Given the description of an element on the screen output the (x, y) to click on. 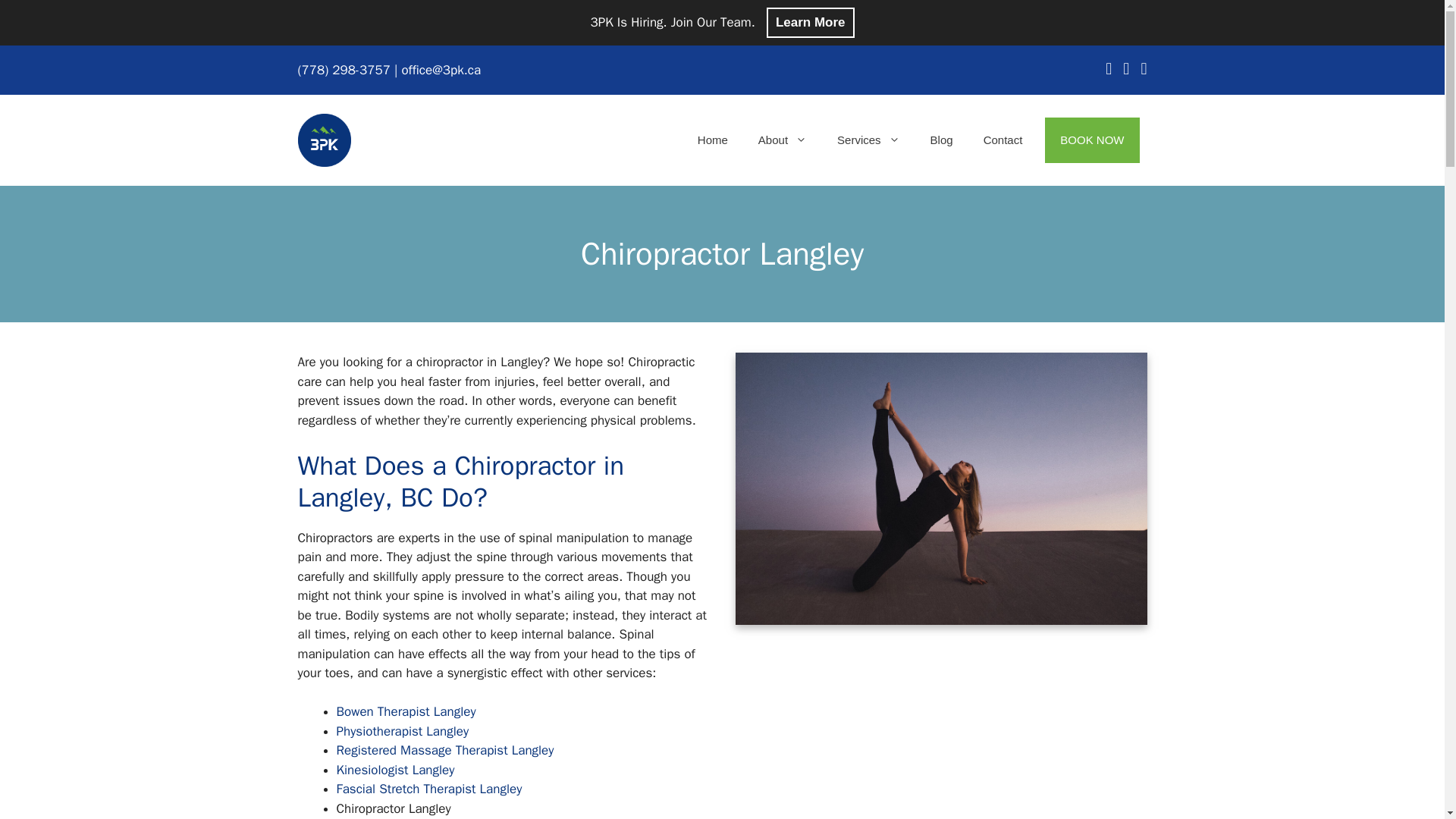
Services (868, 139)
BOOK NOW (1091, 139)
Home (712, 139)
Blog (941, 139)
Contact (1003, 139)
Learn More (810, 22)
Choose a Top Langley Chiropractor From Three Peaks Health (941, 488)
About (782, 139)
Physiotherapist Langley (402, 731)
